Given the description of an element on the screen output the (x, y) to click on. 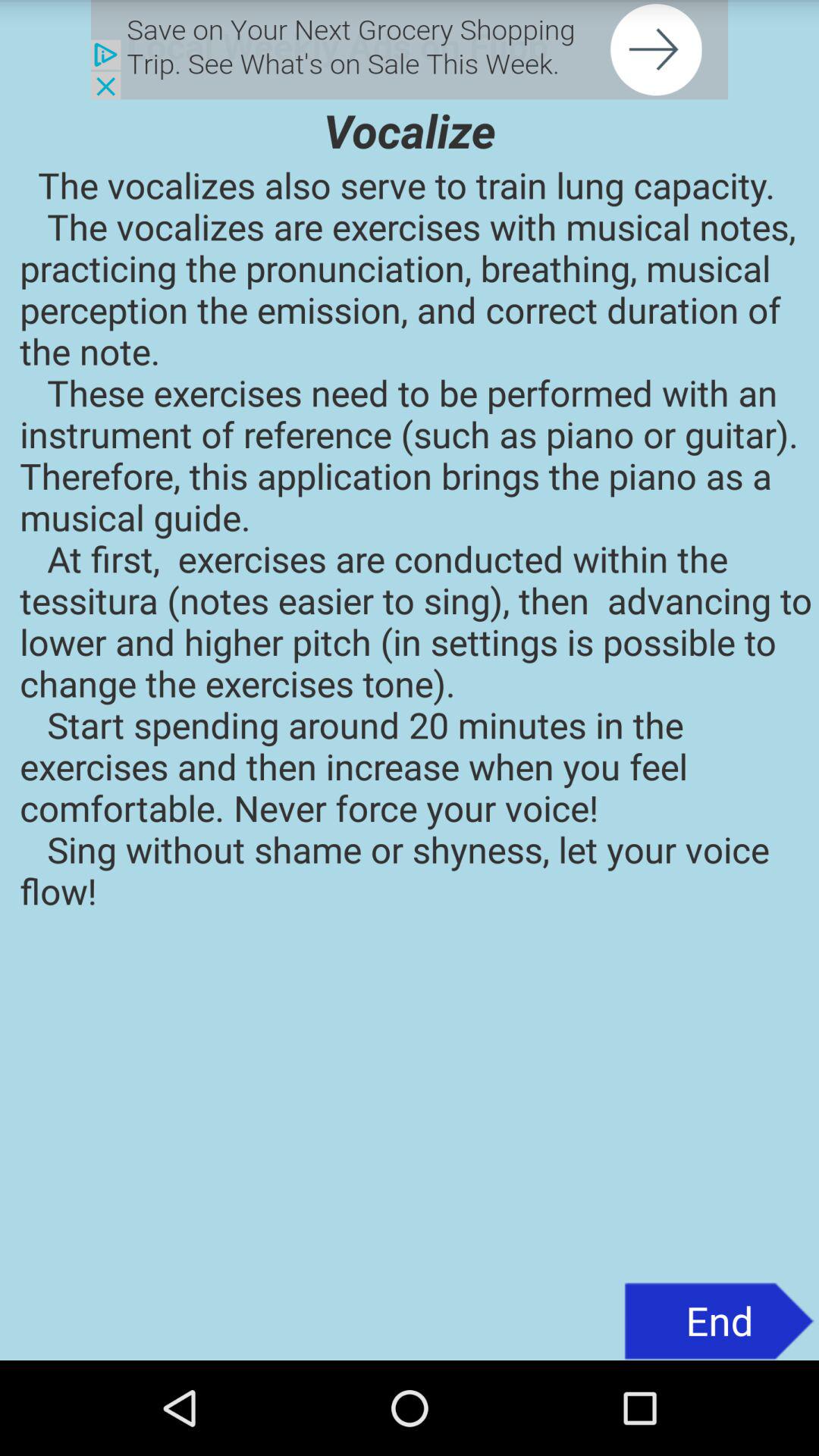
select advertisement (409, 49)
